Given the description of an element on the screen output the (x, y) to click on. 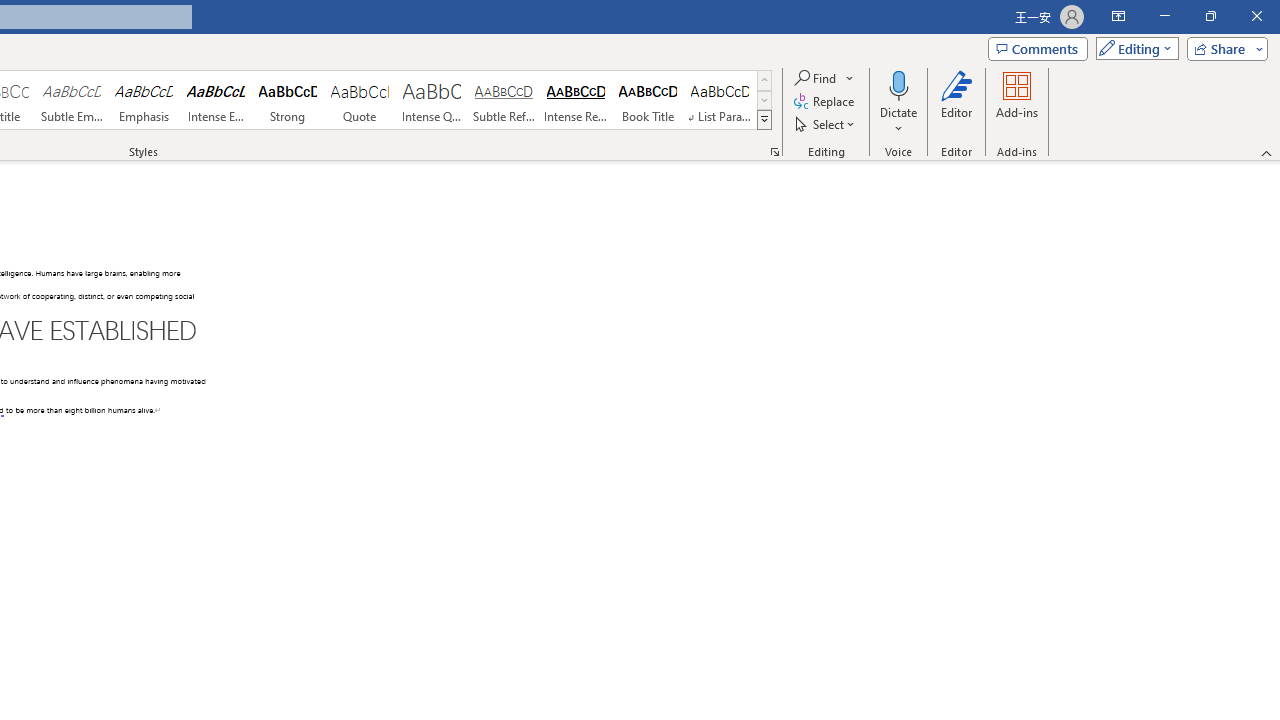
Dictate (899, 102)
Intense Reference (575, 100)
Styles (763, 120)
Row Down (763, 100)
Select (826, 124)
Strong (287, 100)
Quote (359, 100)
Subtle Emphasis (71, 100)
Mode (1133, 47)
Styles... (774, 151)
Dictate (899, 84)
Find (817, 78)
Class: NetUIImage (765, 119)
